Given the description of an element on the screen output the (x, y) to click on. 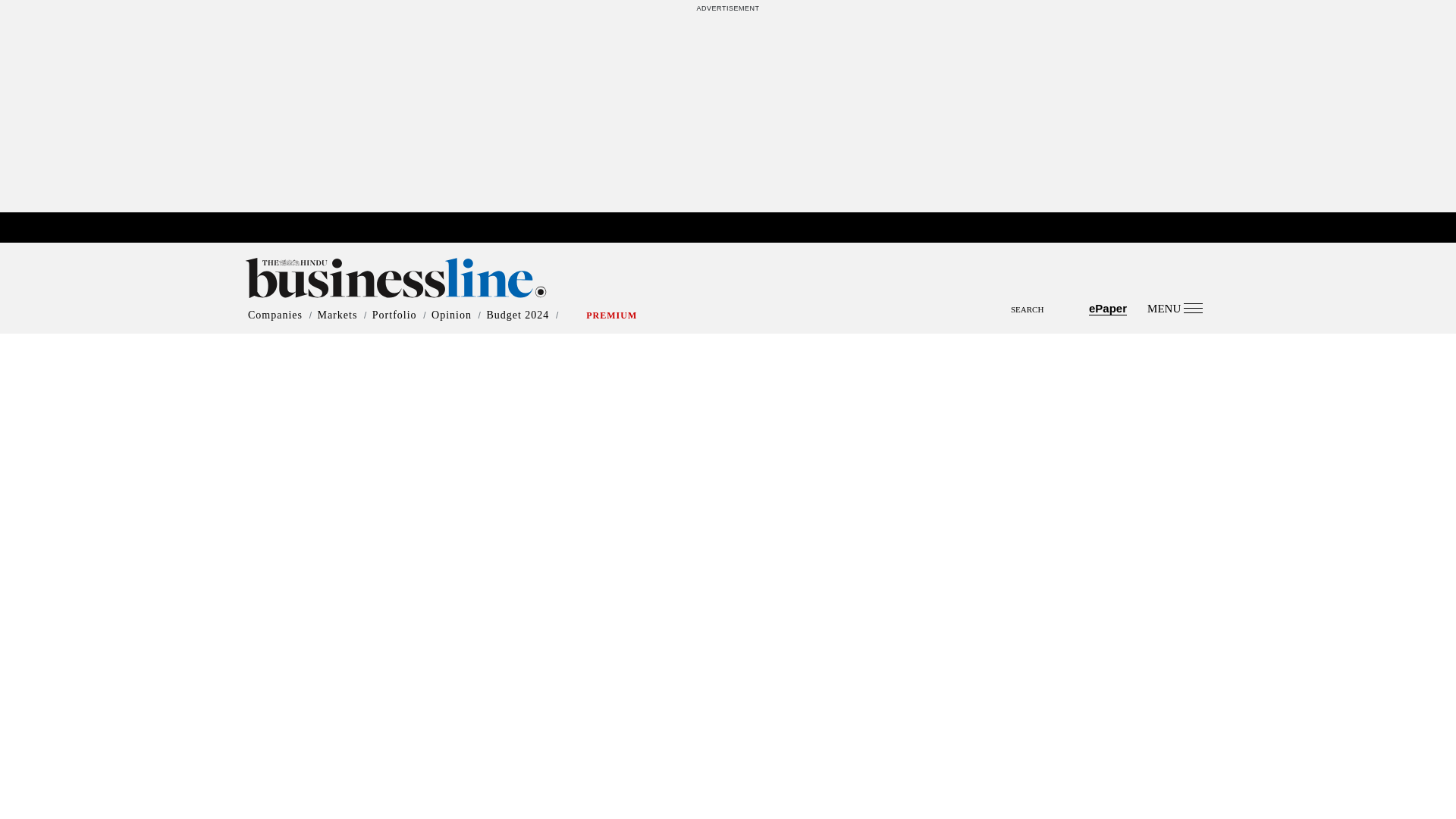
Markets (336, 315)
MENU (1174, 308)
marketupdate (734, 228)
Budget 2024 (517, 315)
ePaper (1107, 308)
Opinion (450, 315)
Companies (274, 315)
SEARCH (727, 295)
PREMIUM (611, 315)
Portfolio (394, 315)
